Given the description of an element on the screen output the (x, y) to click on. 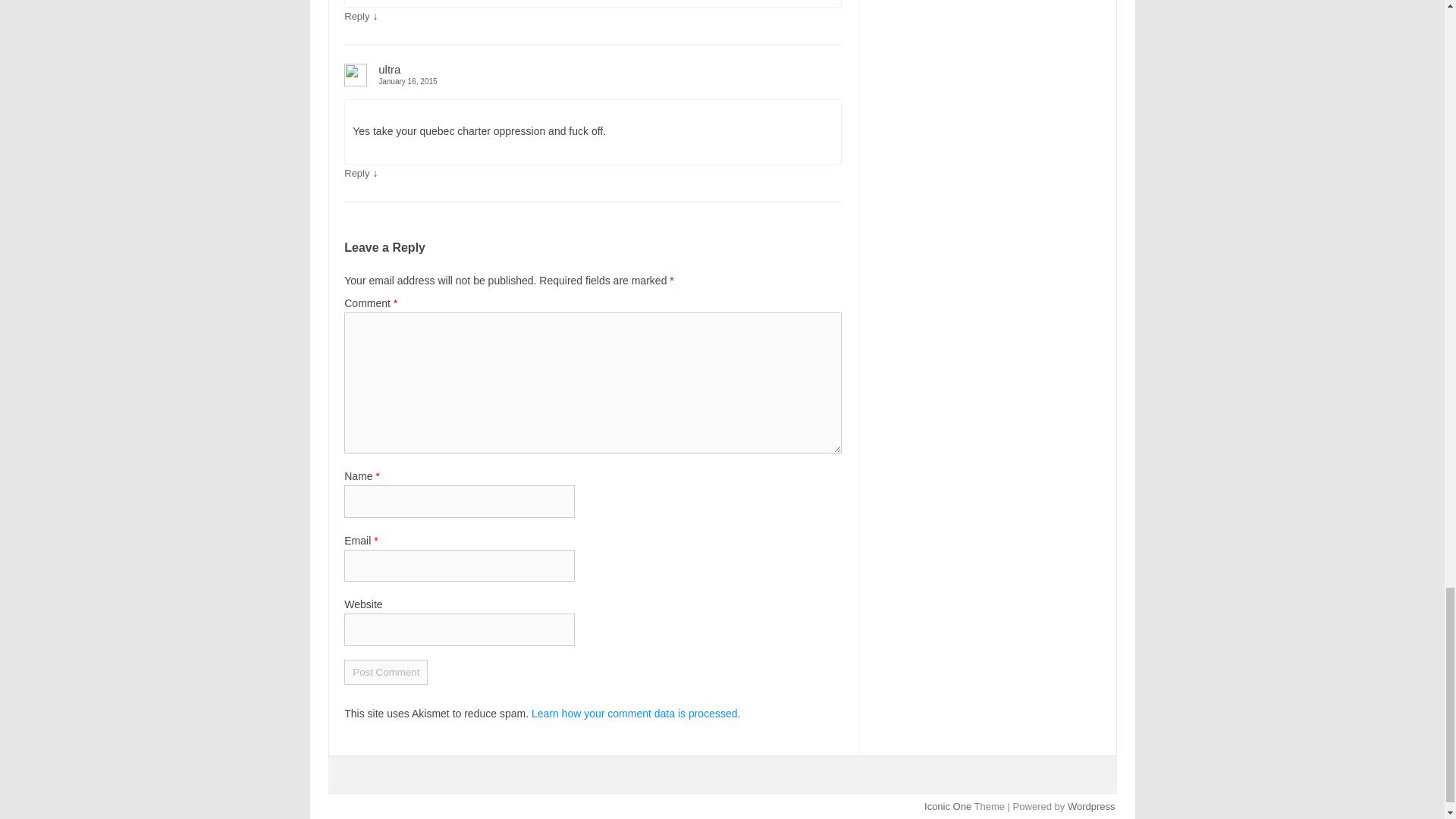
Reply (356, 16)
Post Comment (385, 672)
Post Comment (385, 672)
January 16, 2015 (592, 81)
Reply (356, 173)
